Given the description of an element on the screen output the (x, y) to click on. 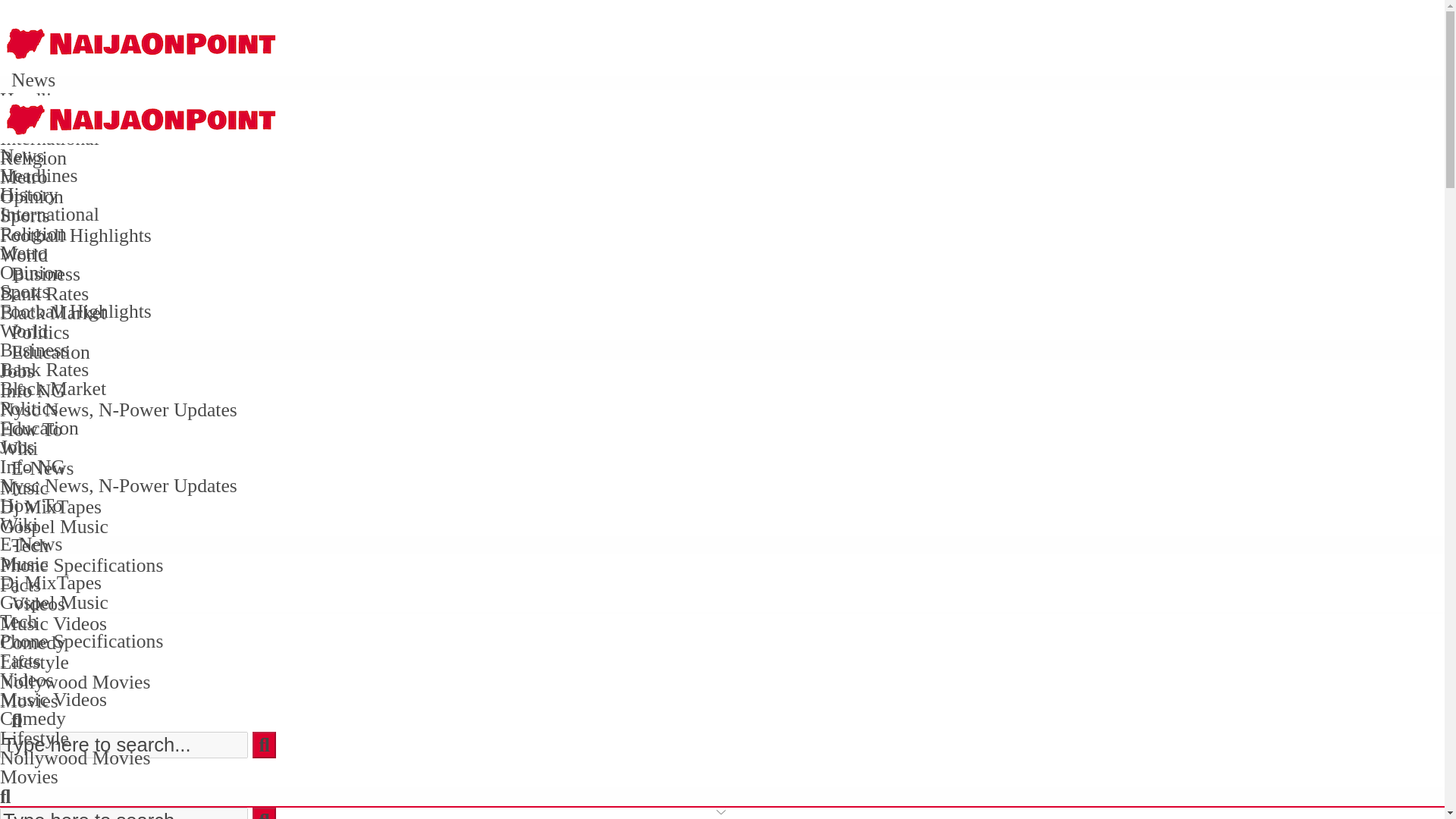
Dj MixTapes (50, 506)
Football Highlights (75, 235)
Nollywood Movies (74, 681)
Facts (20, 585)
World (24, 255)
Phone Specifications (81, 565)
Wiki (18, 448)
Comedy (32, 642)
E-News (42, 467)
Type here to search... (123, 745)
